Given the description of an element on the screen output the (x, y) to click on. 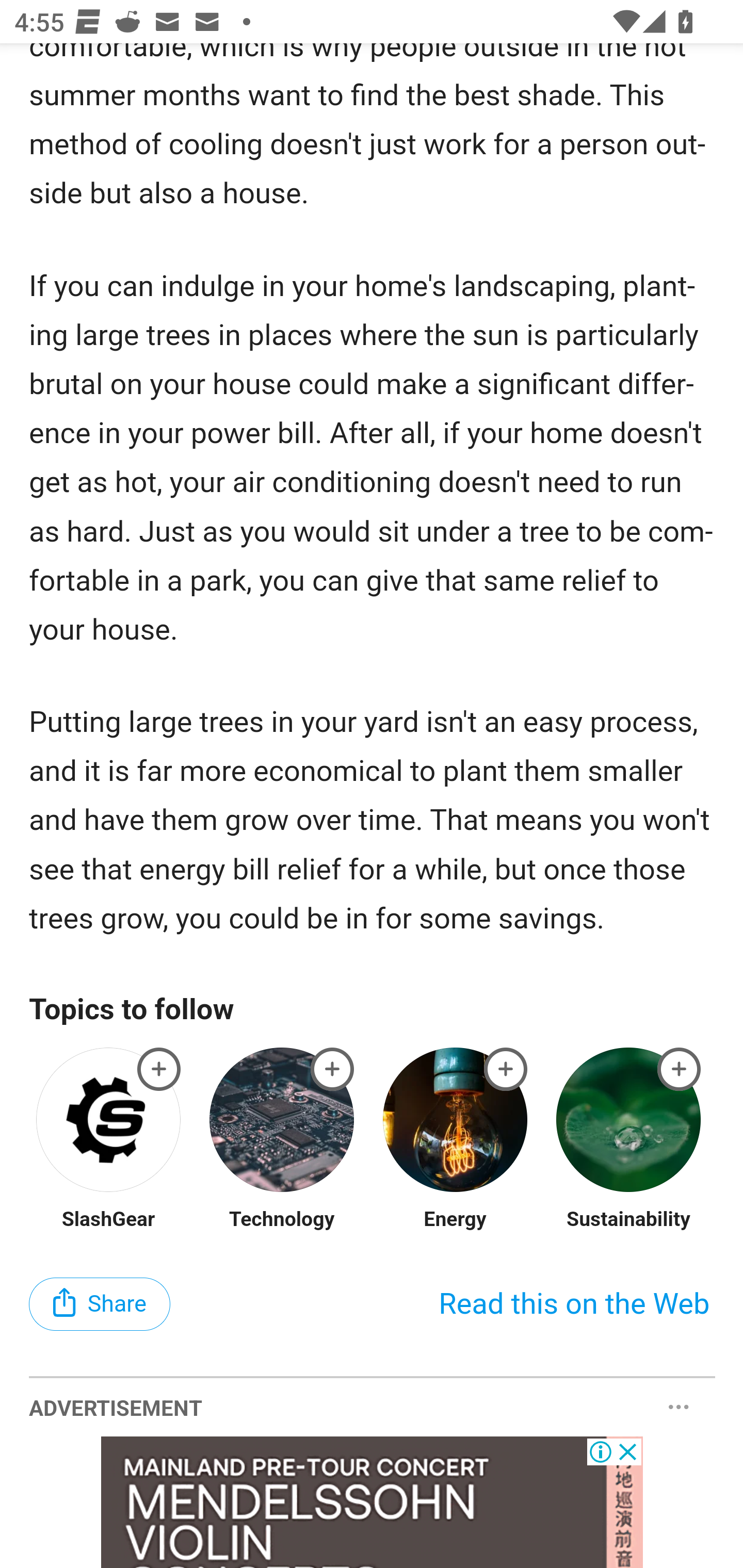
best-solar-panel-substitutes-home-energy-savings (159, 1069)
best-solar-panel-substitutes-home-energy-savings (332, 1069)
best-solar-panel-substitutes-home-energy-savings (505, 1069)
best-solar-panel-substitutes-home-energy-savings (679, 1069)
SlashGear (108, 1218)
Technology (281, 1218)
Energy (454, 1218)
Sustainability (627, 1218)
Read this on the Web (573, 1304)
Share (99, 1304)
